Given the description of an element on the screen output the (x, y) to click on. 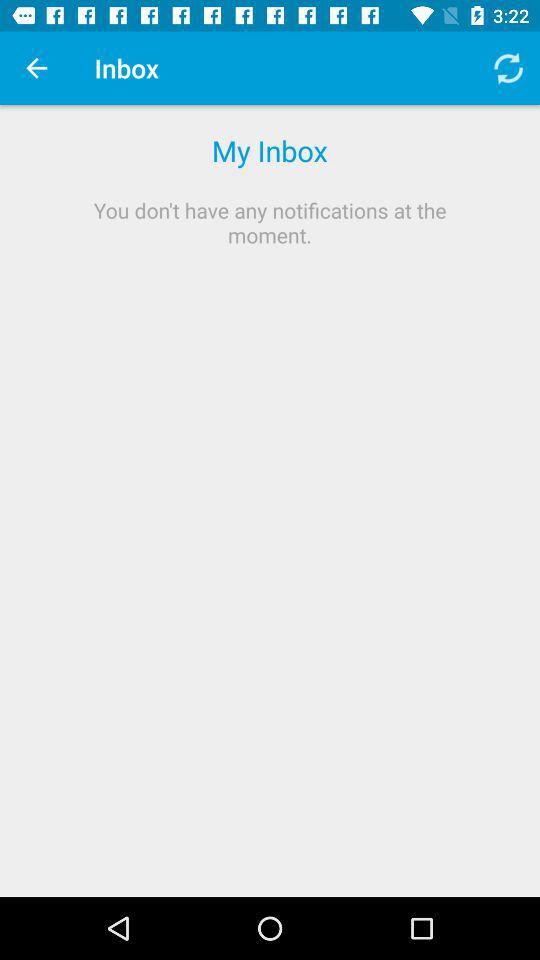
turn on item to the right of inbox item (508, 67)
